Given the description of an element on the screen output the (x, y) to click on. 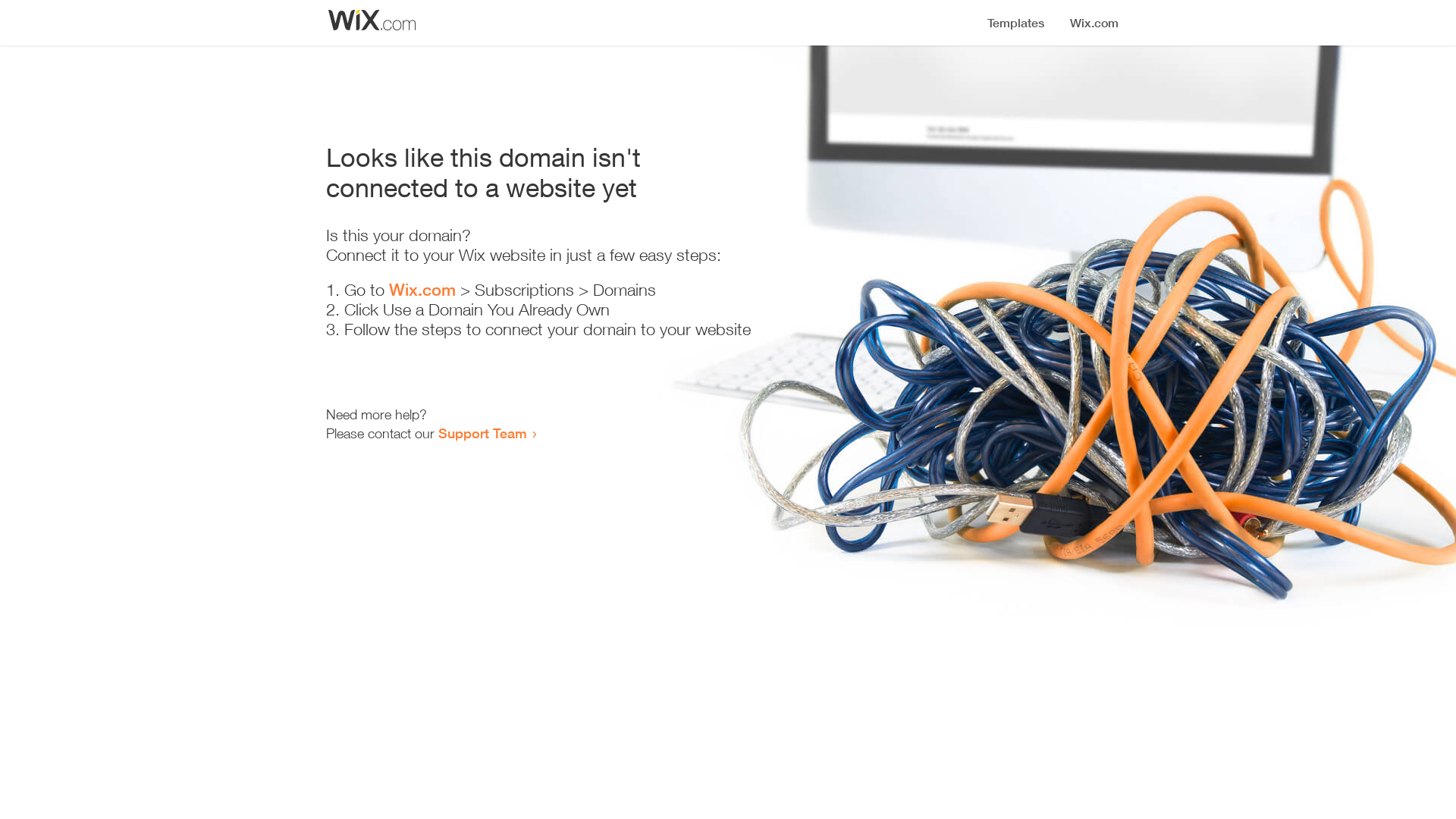
Wix.com Element type: text (422, 289)
Support Team Element type: text (482, 432)
